Given the description of an element on the screen output the (x, y) to click on. 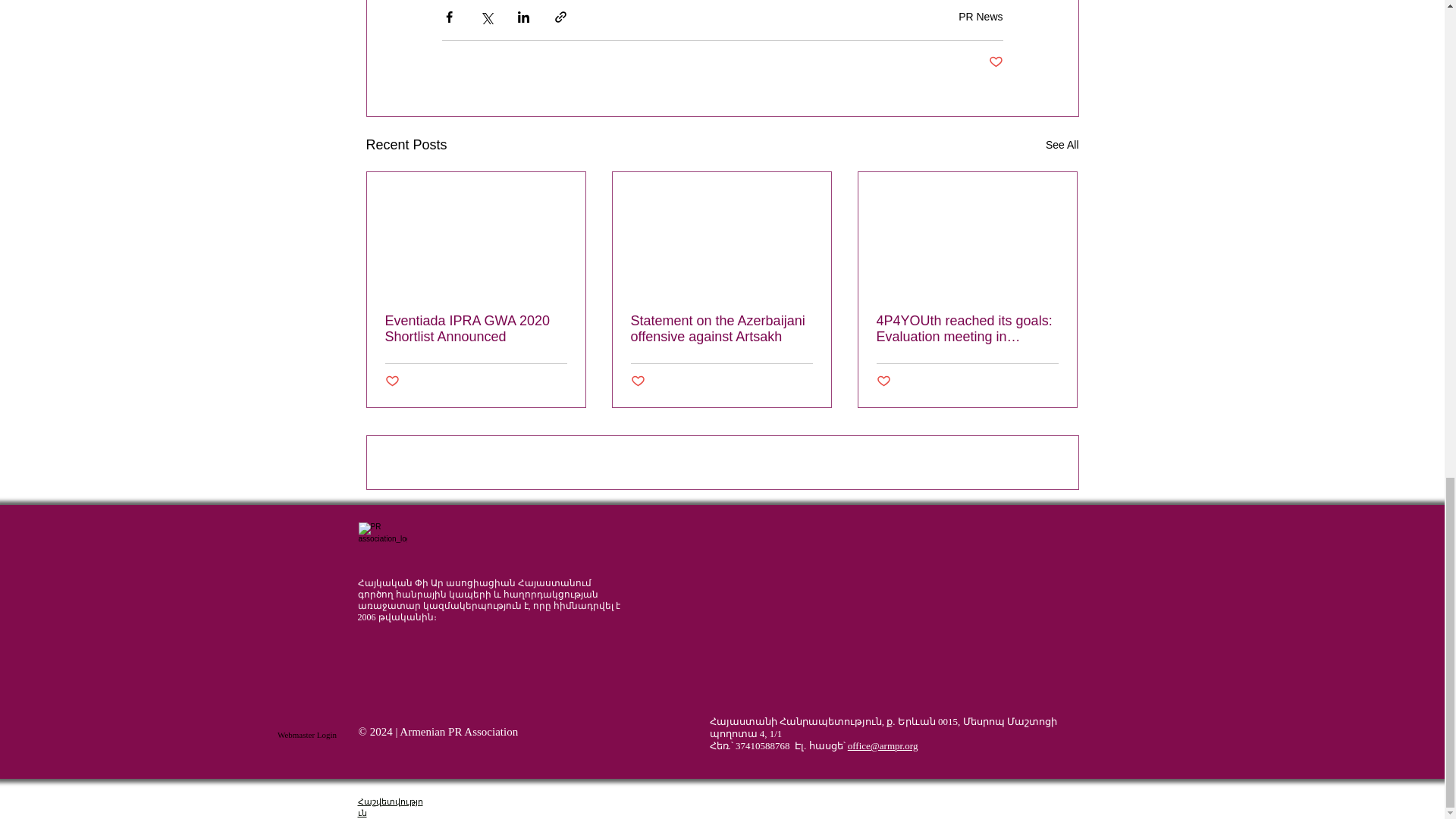
Post not marked as liked (995, 62)
See All (1061, 145)
Post not marked as liked (637, 381)
Post not marked as liked (883, 381)
Webmaster Login (306, 735)
4P4YOUth reached its goals: Evaluation meeting in Yerevan (967, 328)
Eventiada IPRA GWA 2020 Shortlist Announced (476, 328)
Statement on the Azerbaijani offensive against Artsakh (721, 328)
PR News (980, 16)
Post not marked as liked (391, 381)
